Given the description of an element on the screen output the (x, y) to click on. 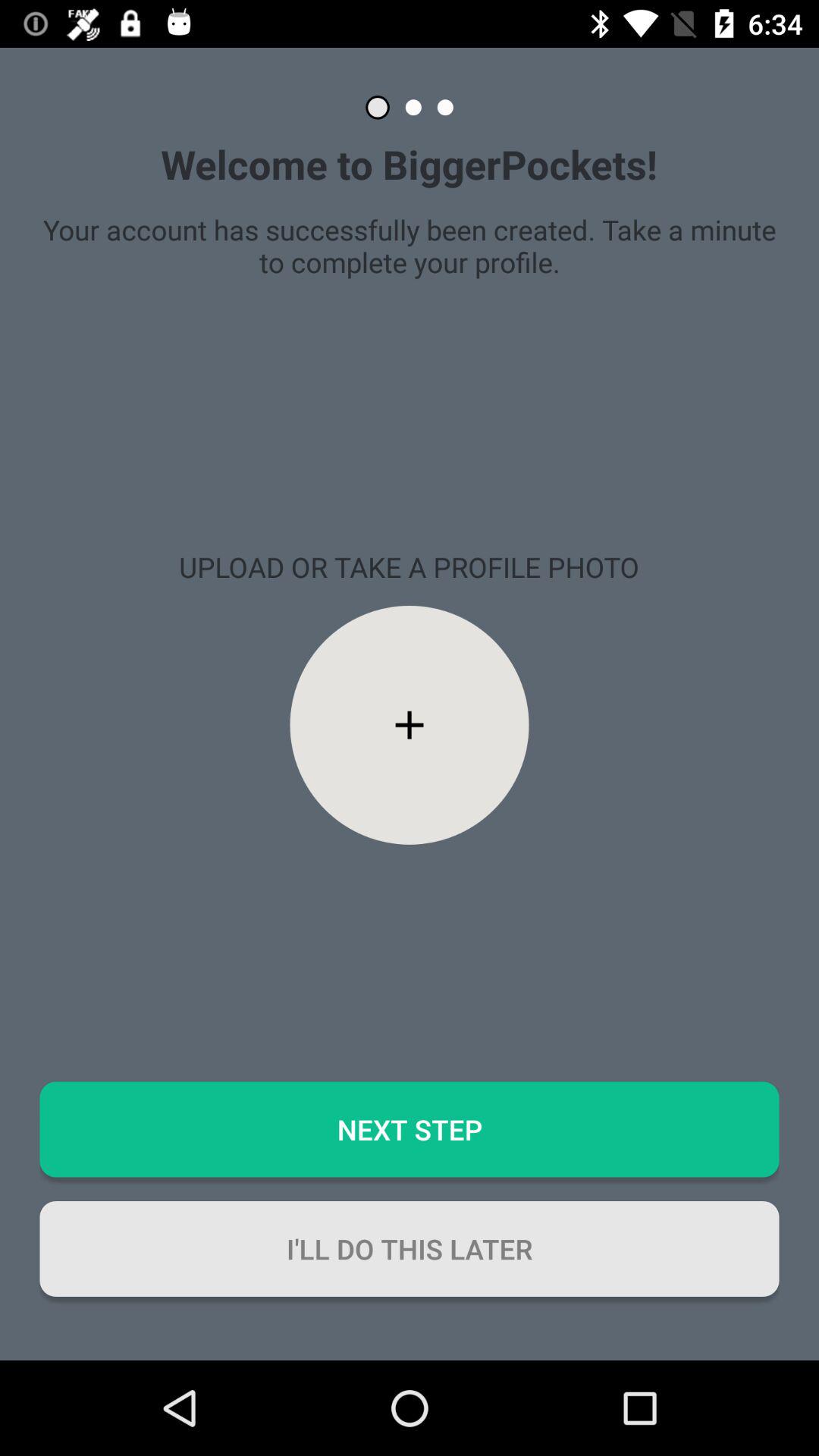
jump until i ll do icon (409, 1248)
